Given the description of an element on the screen output the (x, y) to click on. 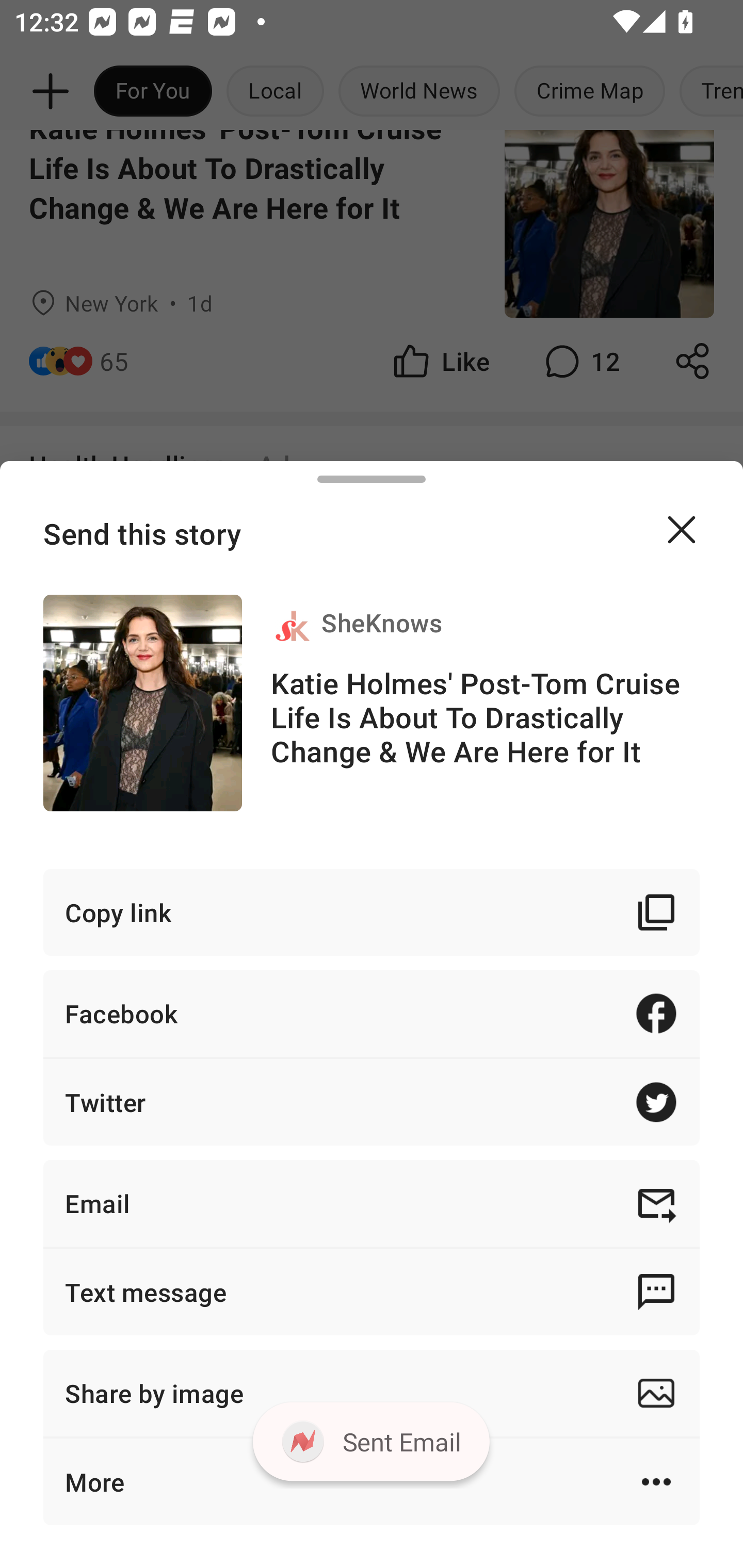
Copy link (371, 912)
Facebook (371, 1013)
Twitter (371, 1102)
Email (371, 1203)
Text message (371, 1291)
Share by image (371, 1393)
More (371, 1481)
